Given the description of an element on the screen output the (x, y) to click on. 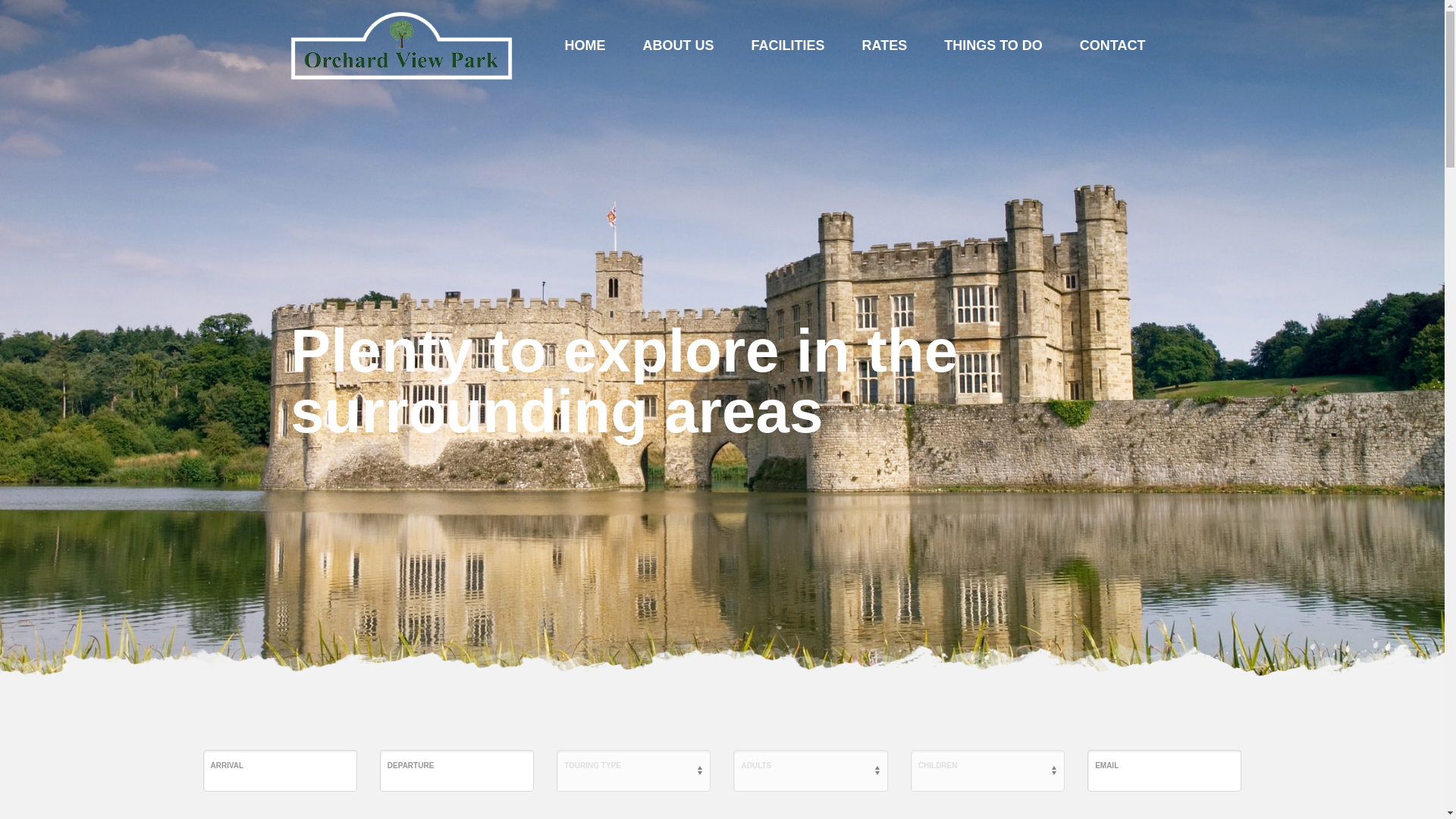
ABOUT US (677, 45)
THINGS TO DO (992, 45)
RATES (883, 45)
CONTACT (1112, 45)
FACILITIES (786, 45)
HOME (584, 45)
